Given the description of an element on the screen output the (x, y) to click on. 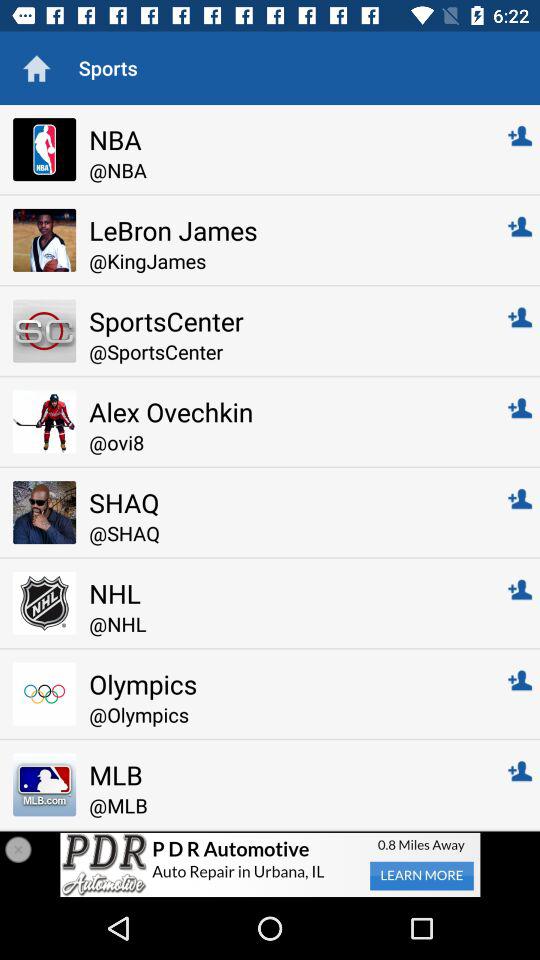
turn off icon to the left of the sports (36, 68)
